Given the description of an element on the screen output the (x, y) to click on. 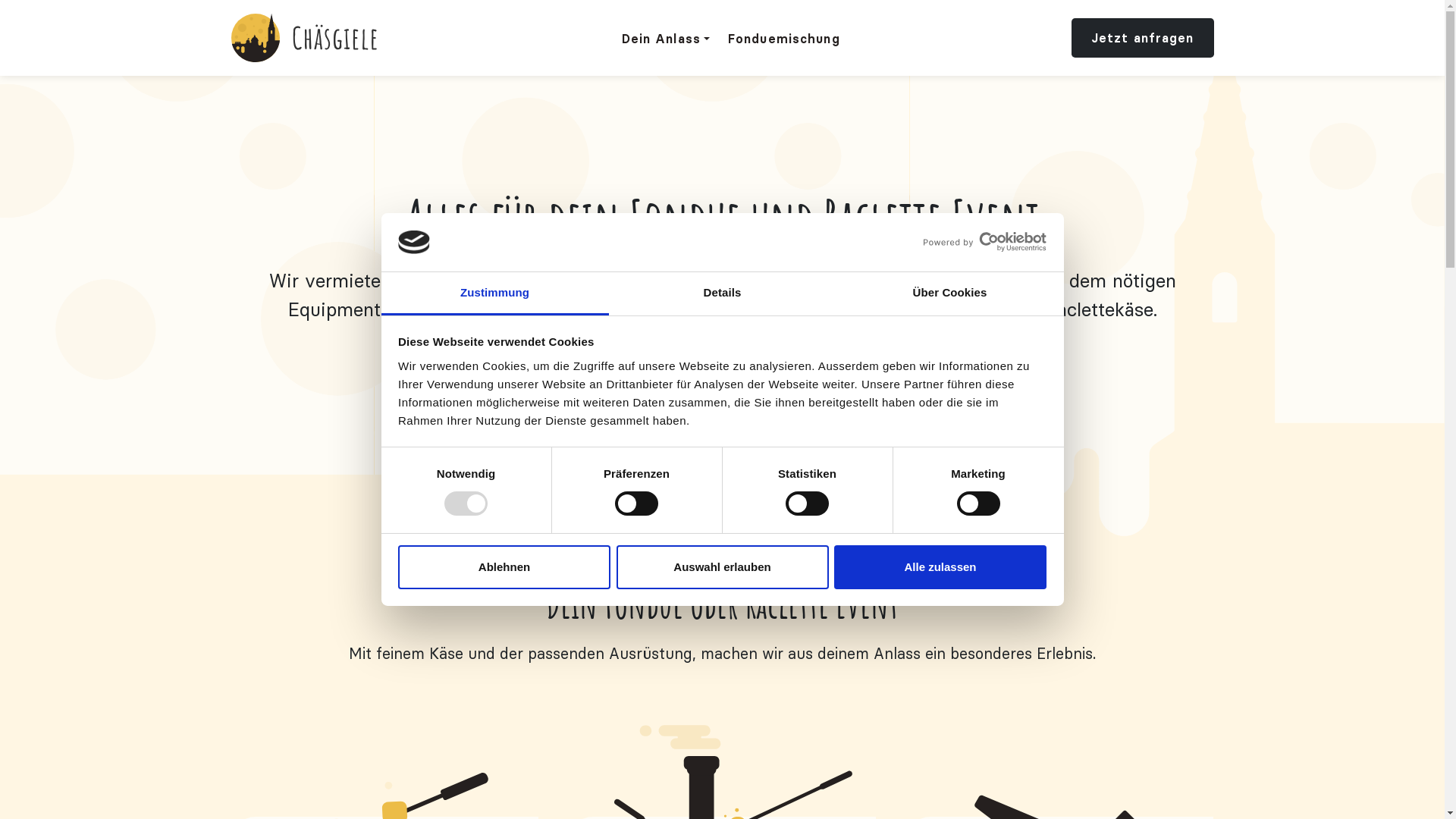
Jetzt anfragen Element type: text (1142, 37)
Auswahl erlauben Element type: text (721, 567)
Details Element type: text (721, 293)
Fonduemischung Element type: text (784, 38)
Ablehnen Element type: text (504, 567)
Alle zulassen Element type: text (940, 567)
Dein Anlass Element type: text (665, 38)
Zustimmung Element type: text (494, 293)
